Given the description of an element on the screen output the (x, y) to click on. 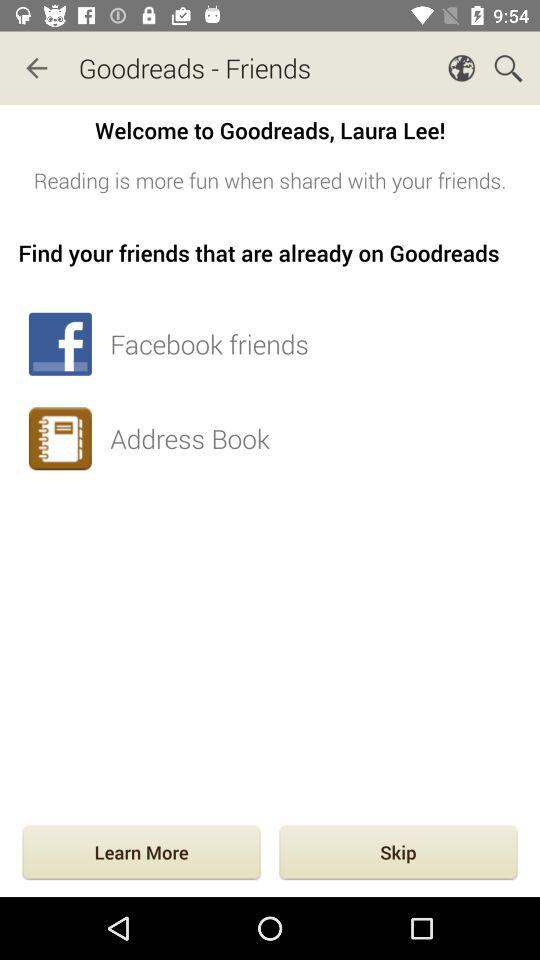
click skip at the bottom right corner (398, 854)
